Given the description of an element on the screen output the (x, y) to click on. 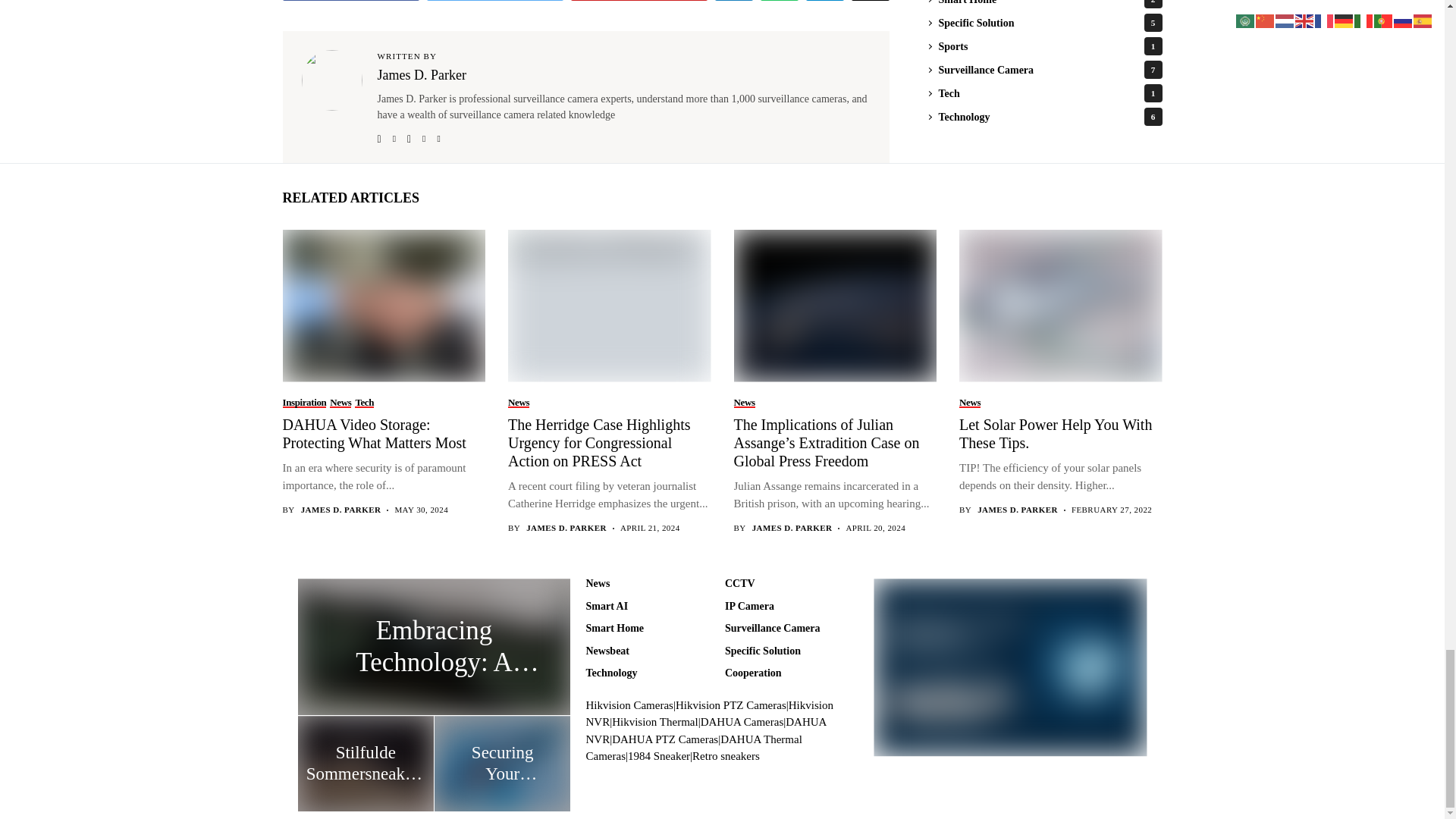
DAHUA Video Storage: Protecting What Matters Most (382, 305)
Posts by James D. Parker (341, 510)
Posts by James D. Parker (566, 528)
